Given the description of an element on the screen output the (x, y) to click on. 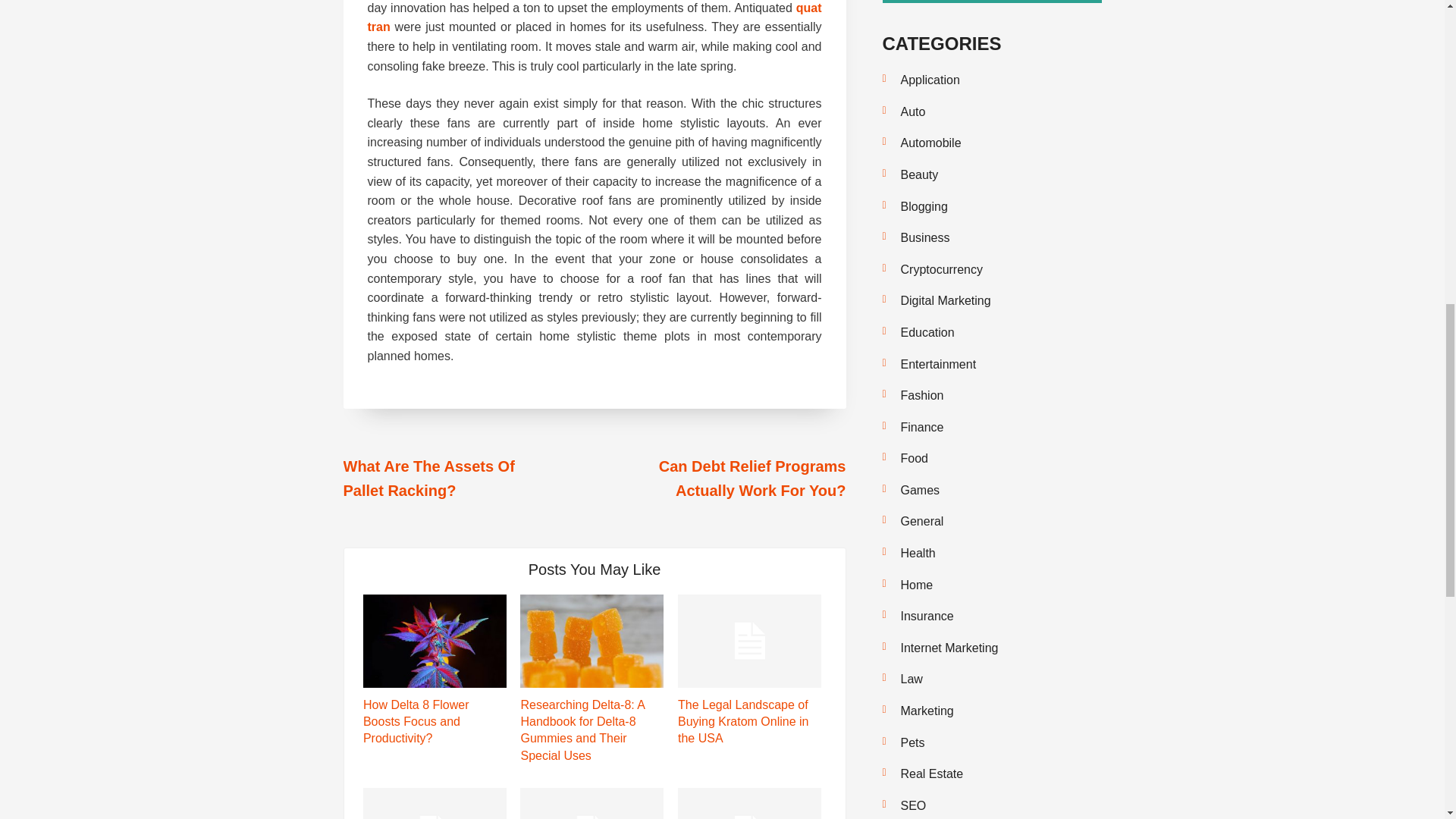
quat tran (593, 17)
The Legal Landscape of Buying Kratom Online in the USA (743, 721)
What Are The Assets Of Pallet Racking? (427, 477)
How Delta 8 Flower Boosts Focus and Productivity? (415, 721)
Can Debt Relief Programs Actually Work For You? (752, 477)
